Given the description of an element on the screen output the (x, y) to click on. 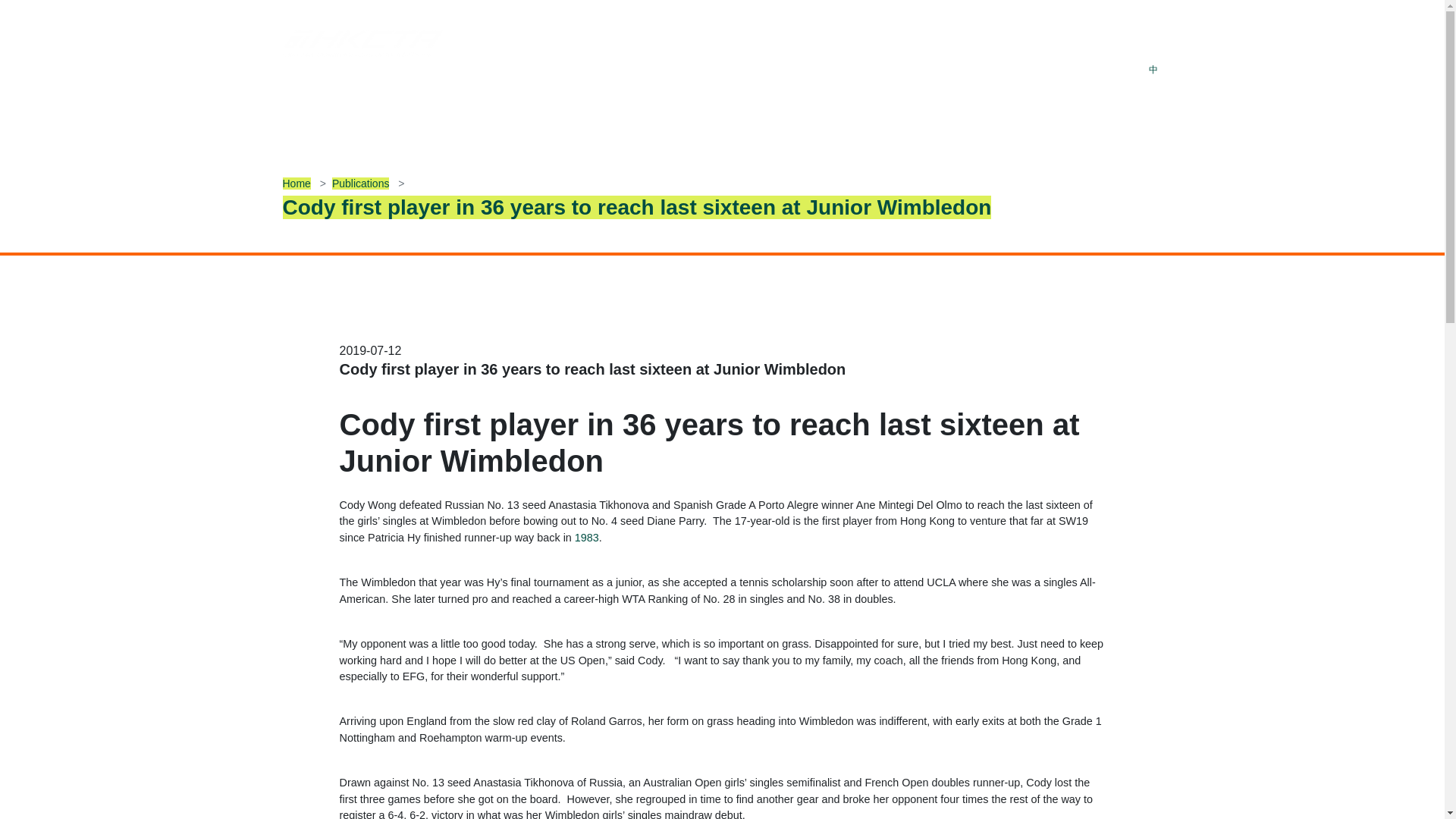
LEAGUES (505, 111)
Hong Kong, China Tennis Association (344, 72)
LEARN TO PLAY (604, 111)
TOURNAMENTS (410, 111)
ABOUT US (312, 111)
